Given the description of an element on the screen output the (x, y) to click on. 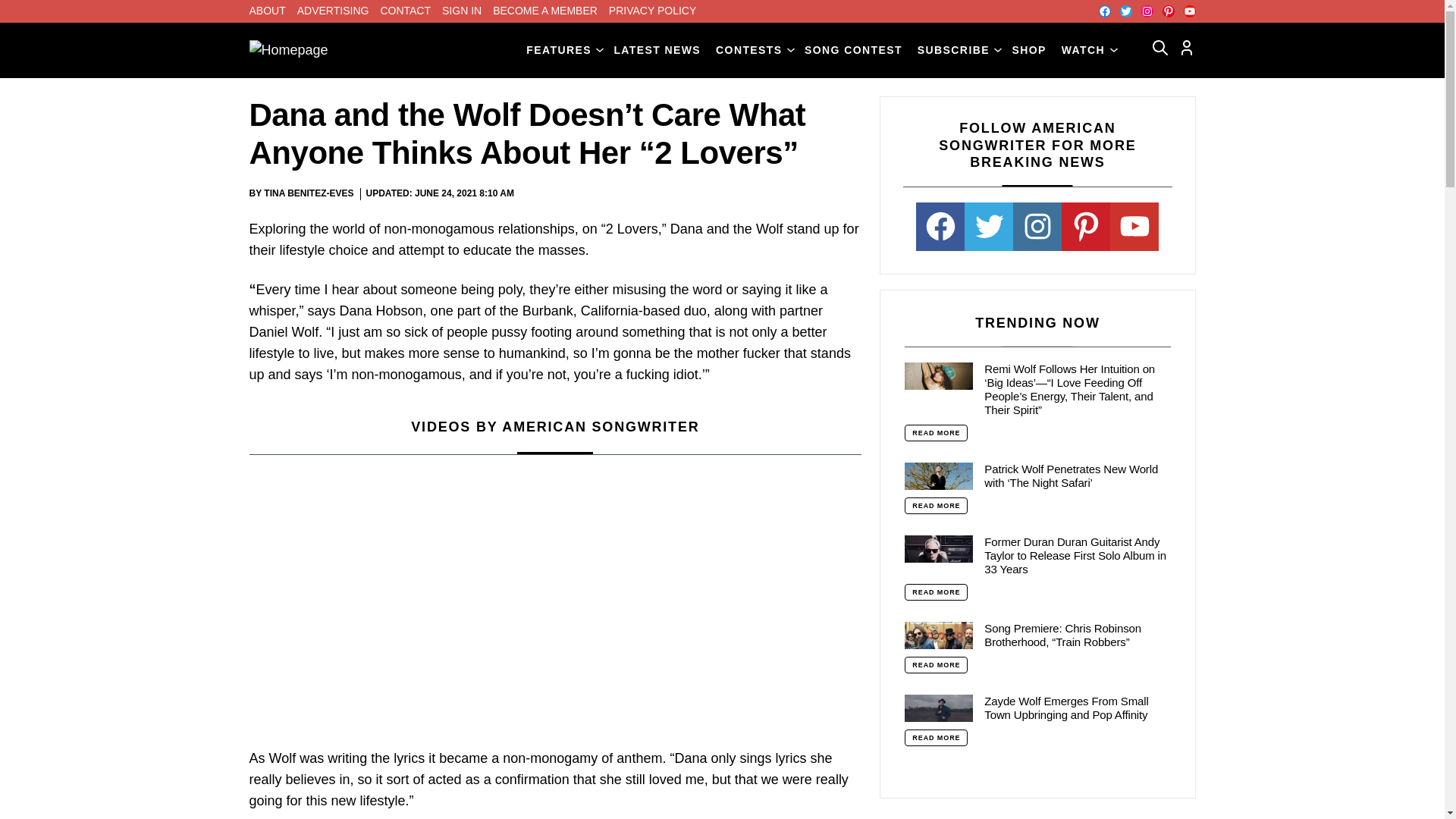
Pinterest (1167, 10)
Twitter (1125, 10)
SIGN IN (461, 10)
June 24, 2021 8:10 am (463, 193)
Facebook (1103, 10)
ABOUT (266, 10)
BECOME A MEMBER (544, 10)
Instagram (1146, 10)
ADVERTISING (333, 10)
Posts by Tina Benitez-Eves (308, 193)
